Given the description of an element on the screen output the (x, y) to click on. 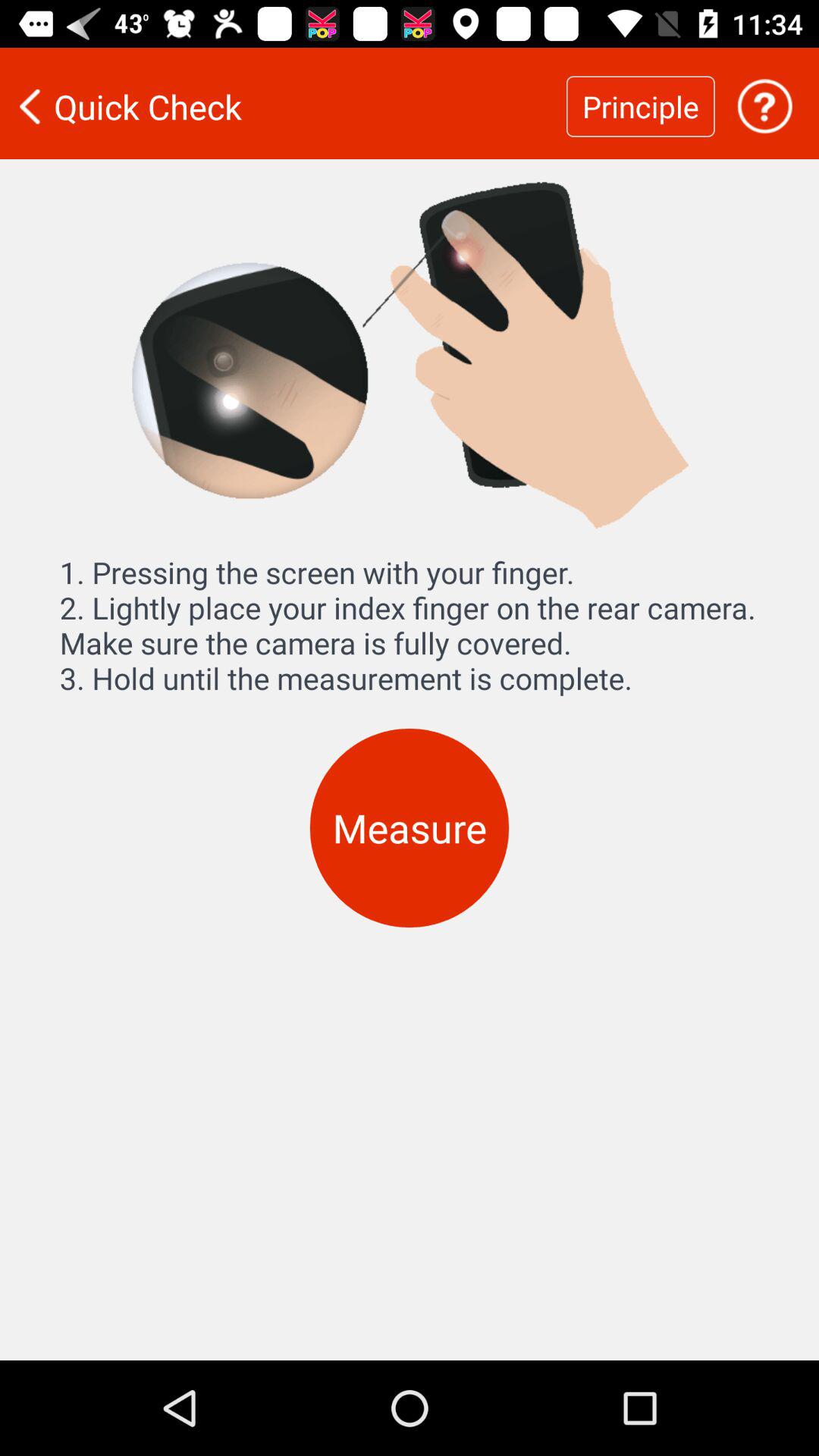
click the questtion mark (764, 106)
